Given the description of an element on the screen output the (x, y) to click on. 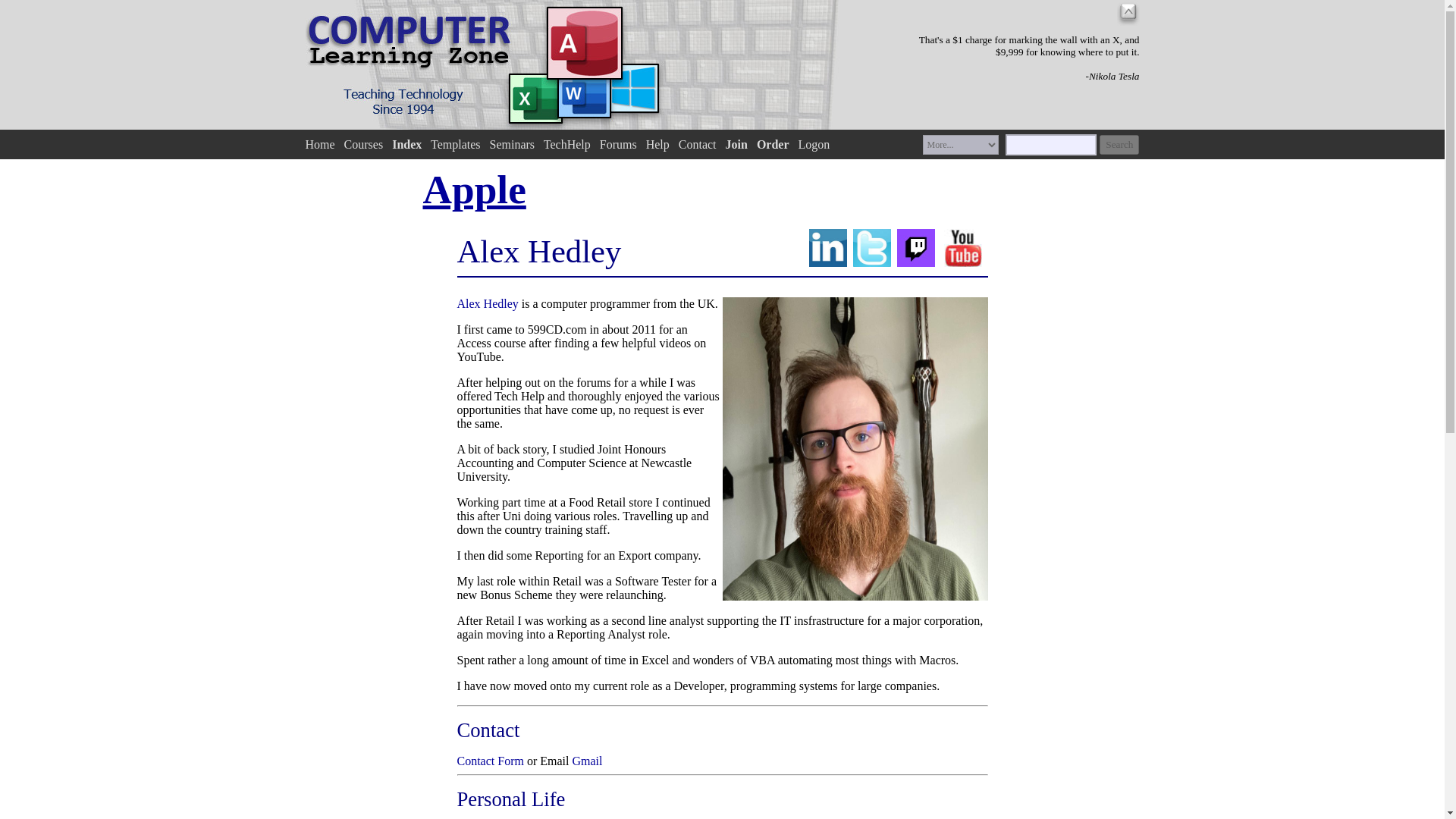
Templates (455, 144)
Courses (363, 144)
TechHelp (567, 144)
Search (1118, 144)
Home (319, 144)
Apple (474, 189)
Index (406, 144)
Join (736, 144)
Contact (697, 144)
Logon (813, 144)
Forums (618, 144)
Seminars (512, 144)
Order (773, 144)
Help (657, 144)
Search (1118, 144)
